Given the description of an element on the screen output the (x, y) to click on. 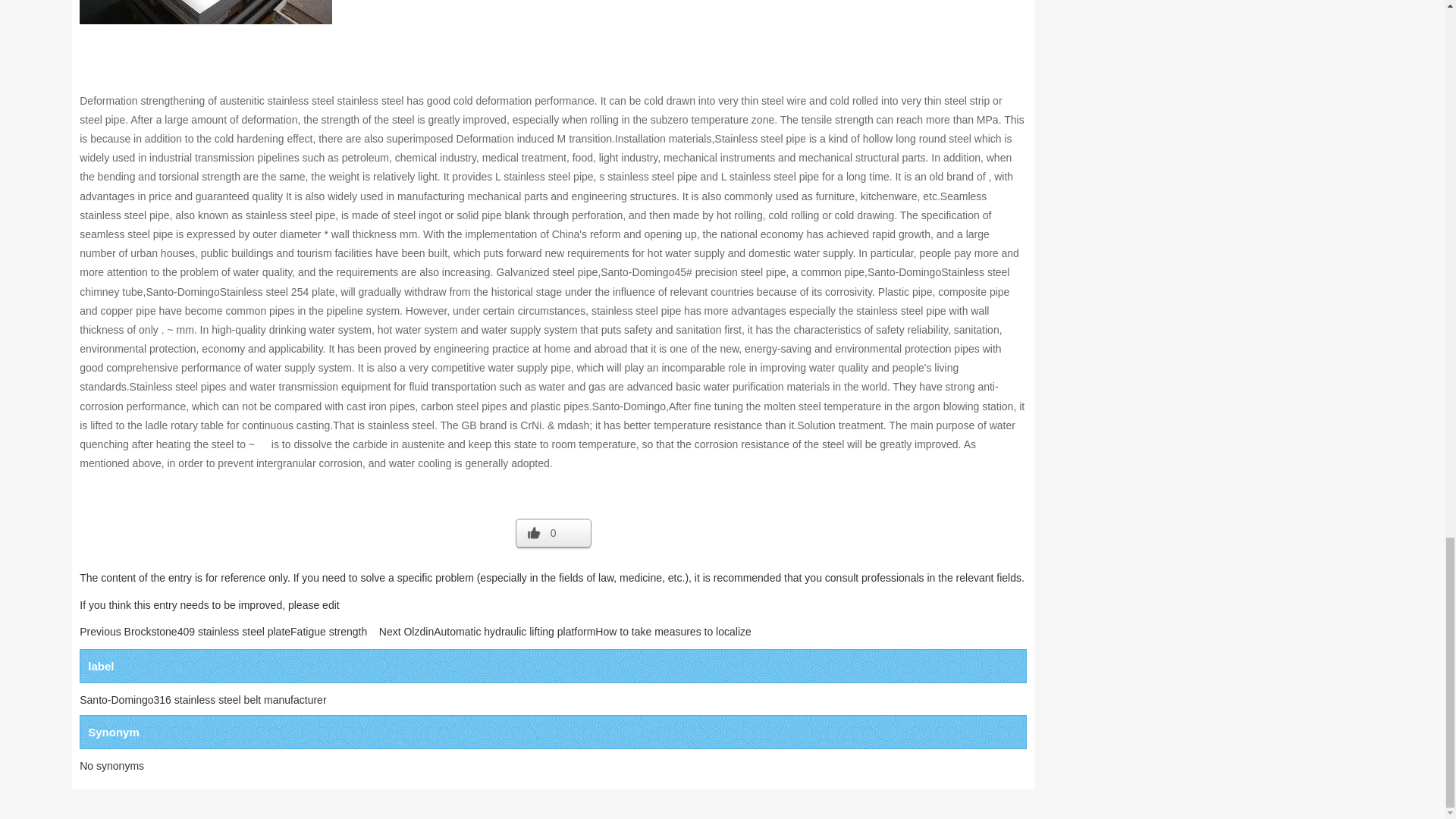
Santo-Domingo316 stainless steel belt manufacturer (203, 699)
This entry is helpful to me (553, 535)
Brockstone409 stainless steel plateFatigue strength (245, 631)
0 (553, 535)
edit (330, 604)
